Given the description of an element on the screen output the (x, y) to click on. 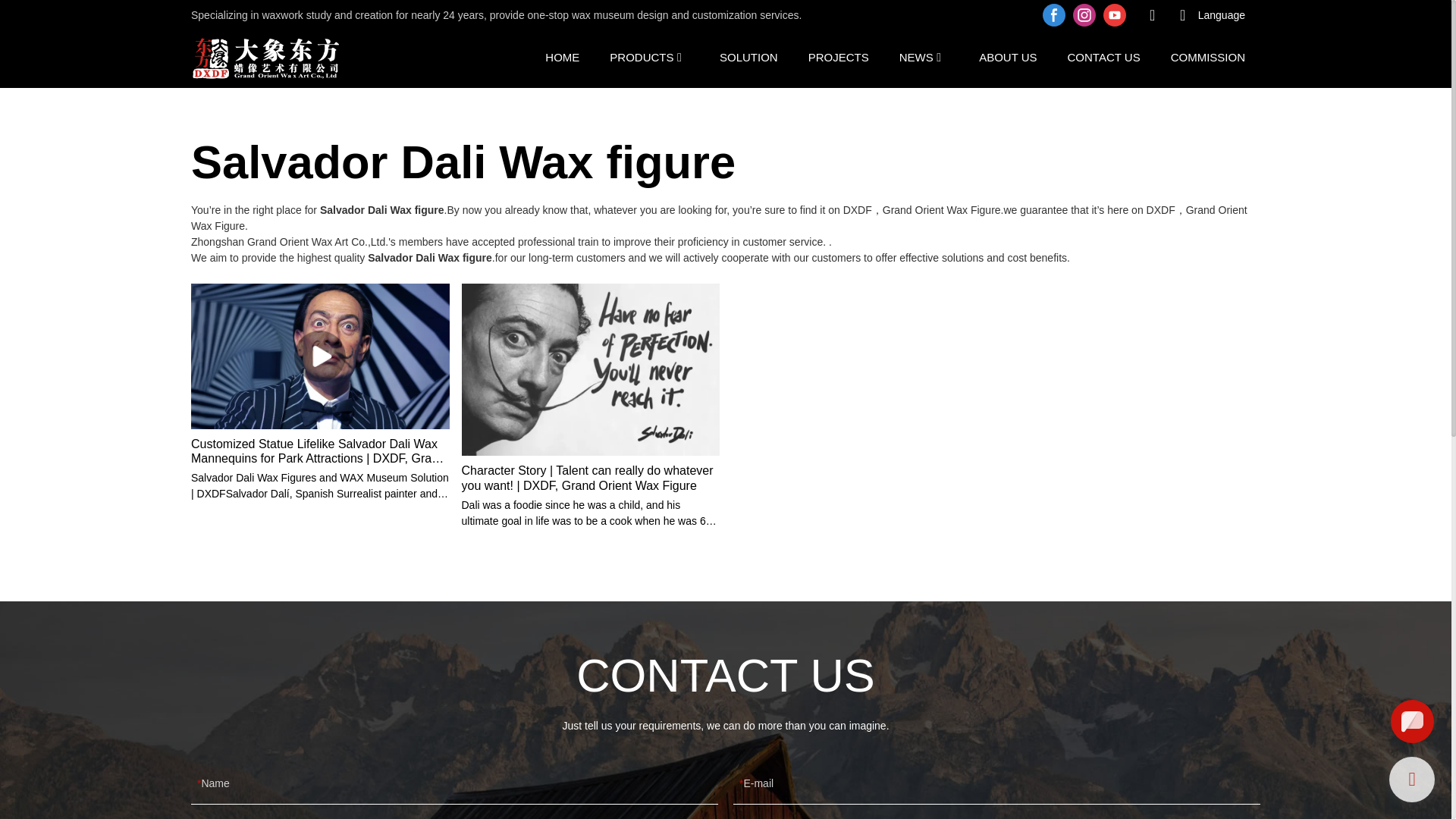
SOLUTION (748, 56)
HOME (561, 56)
NEWS (916, 56)
CONTACT US (1103, 56)
instagram (1083, 15)
COMMISSION (1207, 56)
facebook (1053, 15)
PRODUCTS (641, 56)
PROJECTS (838, 56)
ABOUT US (1007, 56)
youtube (1114, 15)
